Given the description of an element on the screen output the (x, y) to click on. 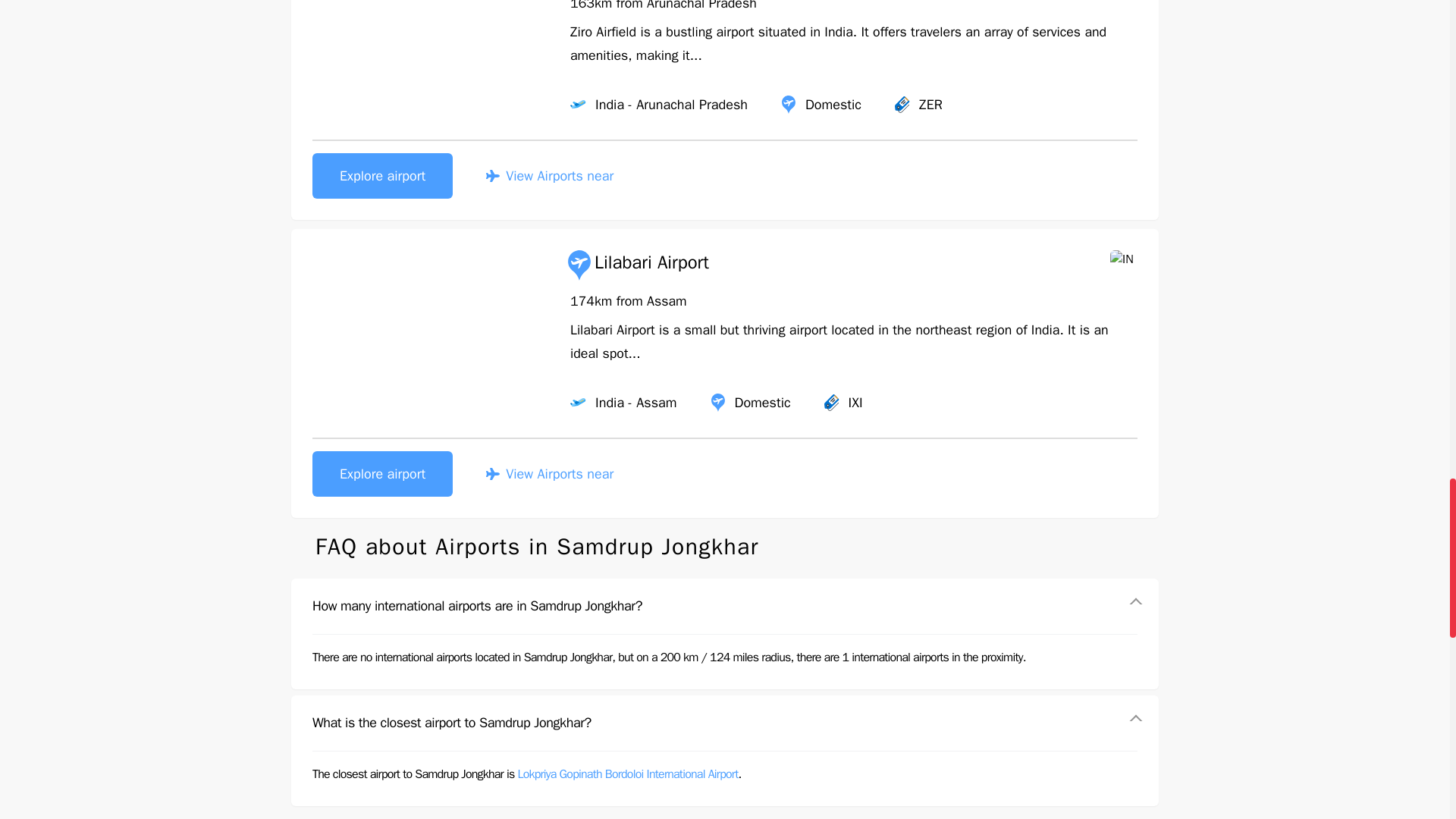
Lokpriya Gopinath Bordoloi International Airport (627, 774)
Lilabari Airport (636, 265)
Explore airport (382, 473)
View Airports near (549, 175)
View Airports near (549, 473)
Explore airport (382, 176)
